Given the description of an element on the screen output the (x, y) to click on. 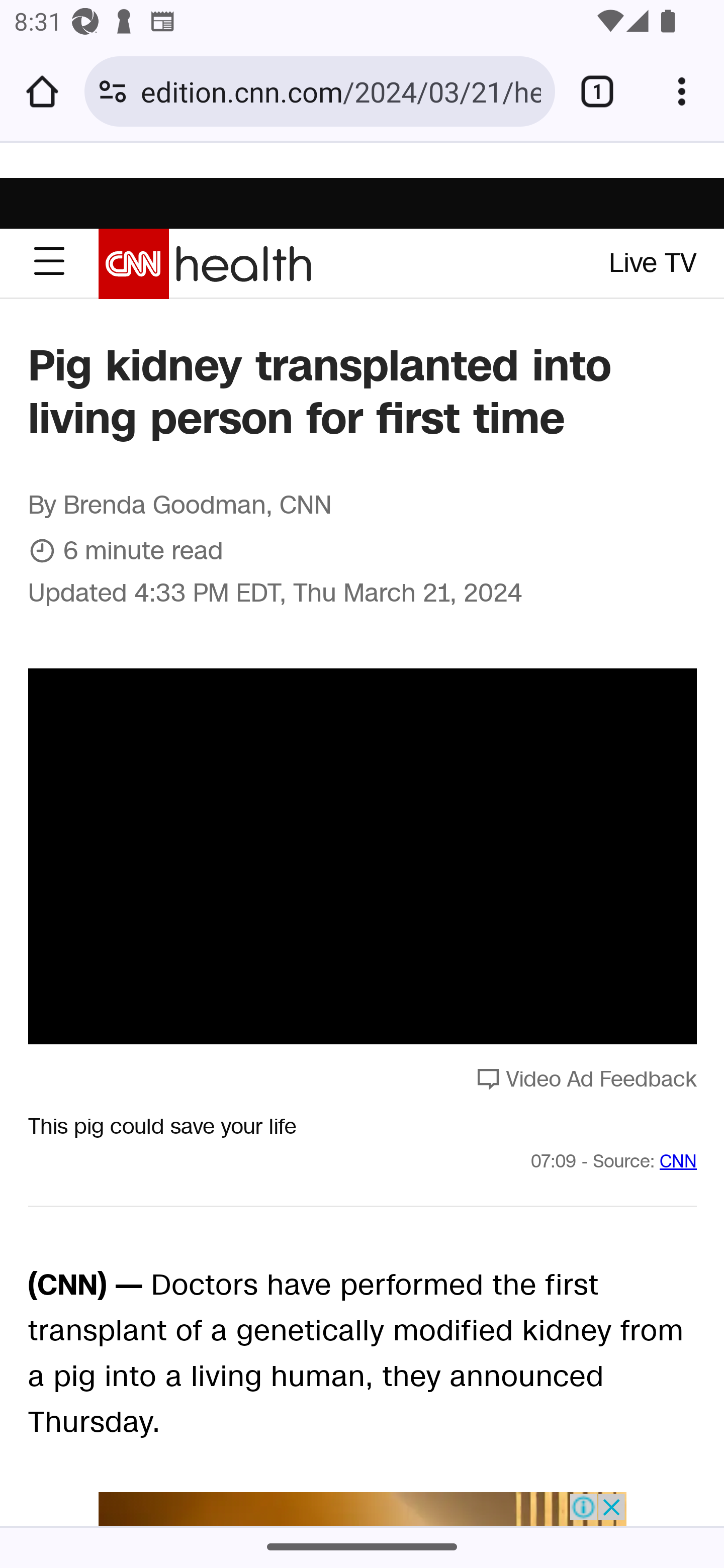
Open the home page (42, 91)
Connection is secure (112, 91)
Switch or close tabs (597, 91)
Customize and control Google Chrome (681, 91)
CNN logo (134, 264)
health (244, 264)
Open Menu Icon (49, 264)
Live TV (653, 263)
CNN (678, 1162)
